Given the description of an element on the screen output the (x, y) to click on. 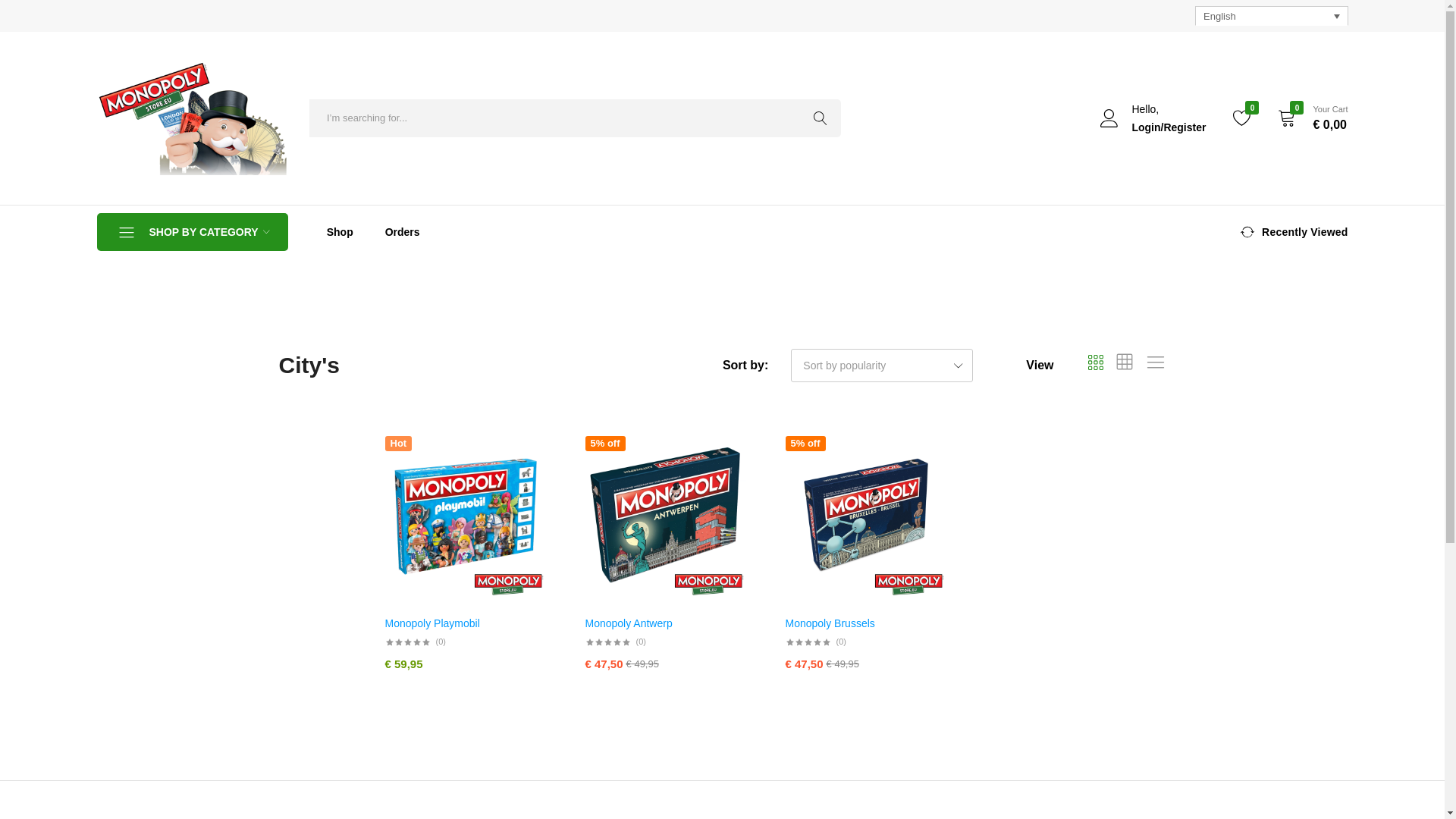
Orders (402, 231)
Shop (340, 231)
English (1271, 15)
0 (1242, 117)
